Given the description of an element on the screen output the (x, y) to click on. 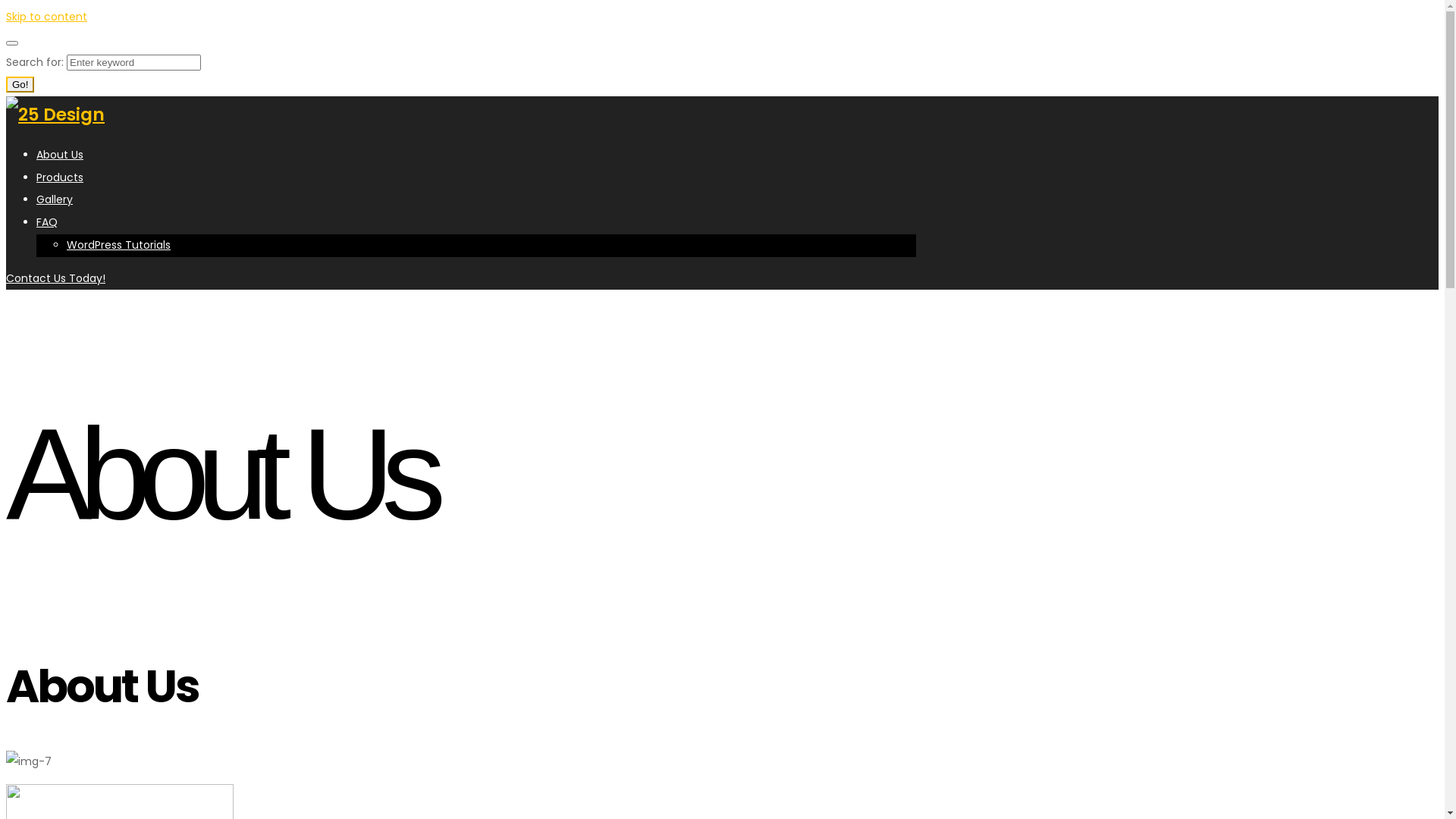
Products Element type: text (59, 177)
Search for: Element type: hover (133, 62)
Skip to content Element type: text (46, 16)
img-7 Element type: hover (28, 761)
FAQ Element type: text (46, 221)
Go! Element type: text (20, 84)
Gallery Element type: text (54, 199)
WordPress Tutorials Element type: text (118, 244)
Contact Us Today! Element type: text (55, 277)
About Us Element type: text (59, 154)
